Given the description of an element on the screen output the (x, y) to click on. 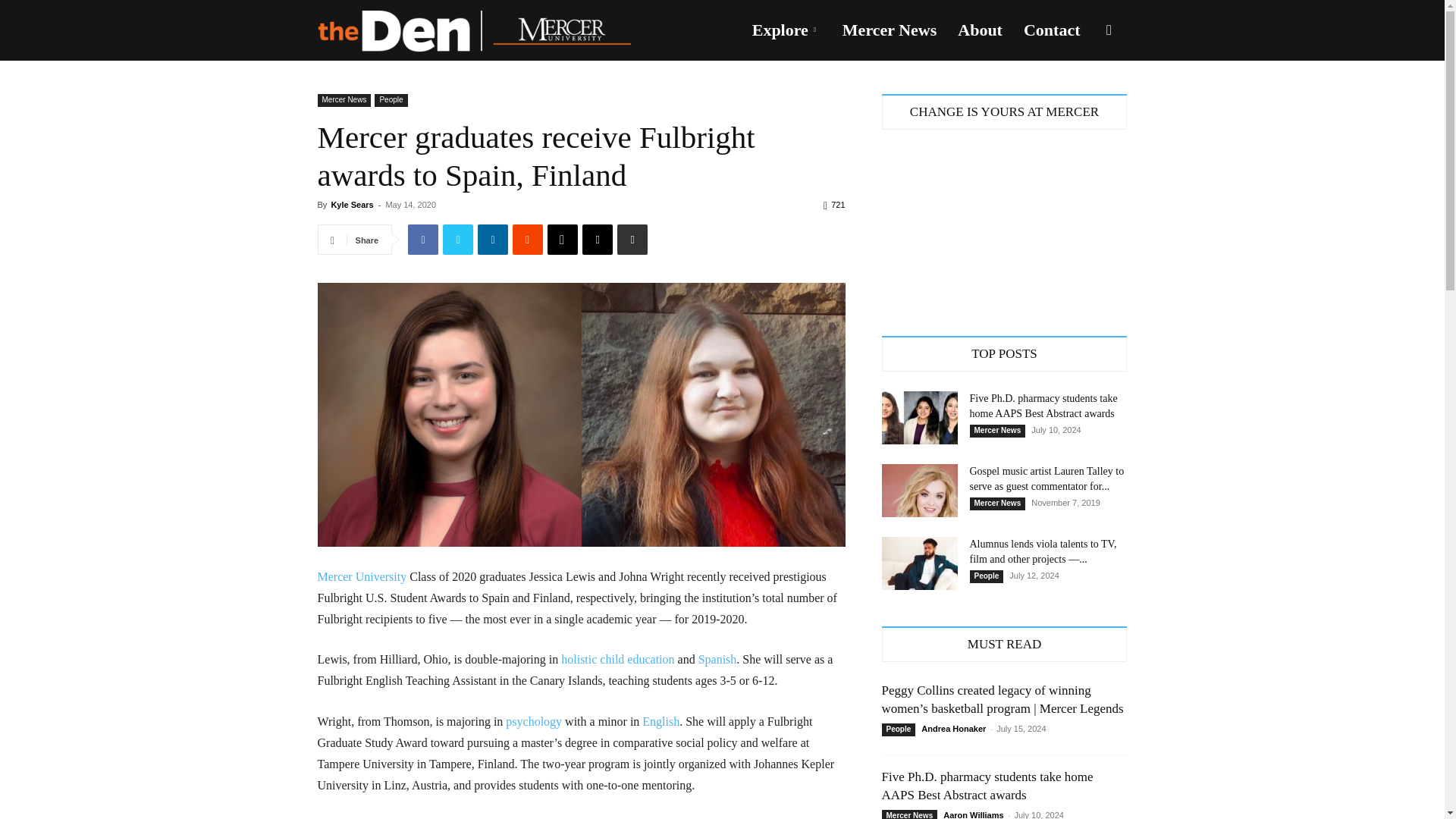
Print (632, 239)
Mercer News (344, 100)
Mercer News (889, 30)
ReddIt (527, 239)
Linkedin (492, 239)
Search (1085, 102)
The Den (473, 30)
Email (597, 239)
About (980, 30)
